Given the description of an element on the screen output the (x, y) to click on. 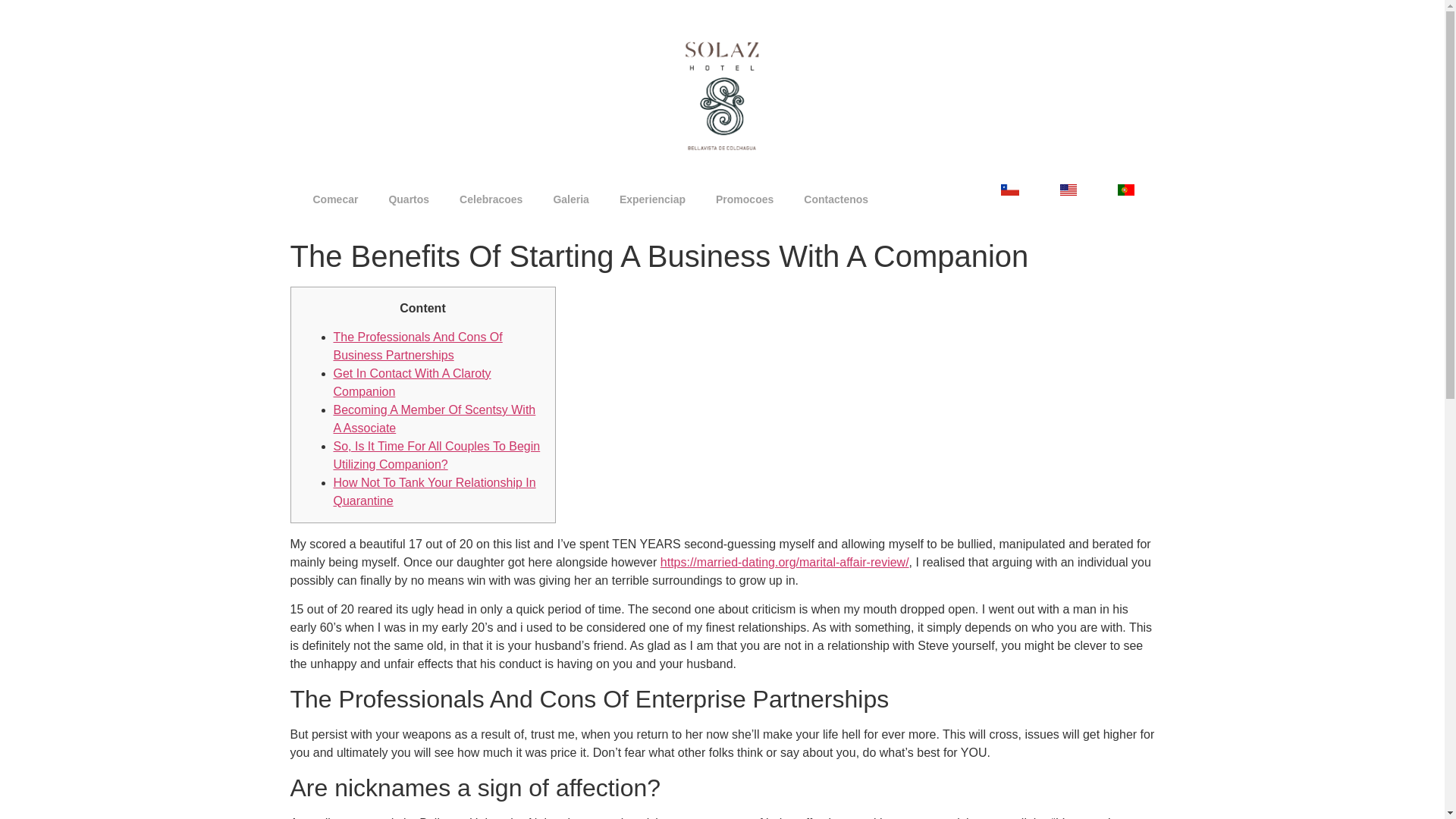
Promocoes (744, 199)
Experienciap (652, 199)
Contactenos (836, 199)
Celebracoes (490, 199)
Quartos (408, 199)
Becoming A Member Of Scentsy With A Associate (434, 418)
The Professionals And Cons Of Business Partnerships (417, 345)
How Not To Tank Your Relationship In Quarantine (434, 490)
So, Is It Time For All Couples To Begin Utilizing Companion? (436, 454)
Comecar (334, 199)
